Given the description of an element on the screen output the (x, y) to click on. 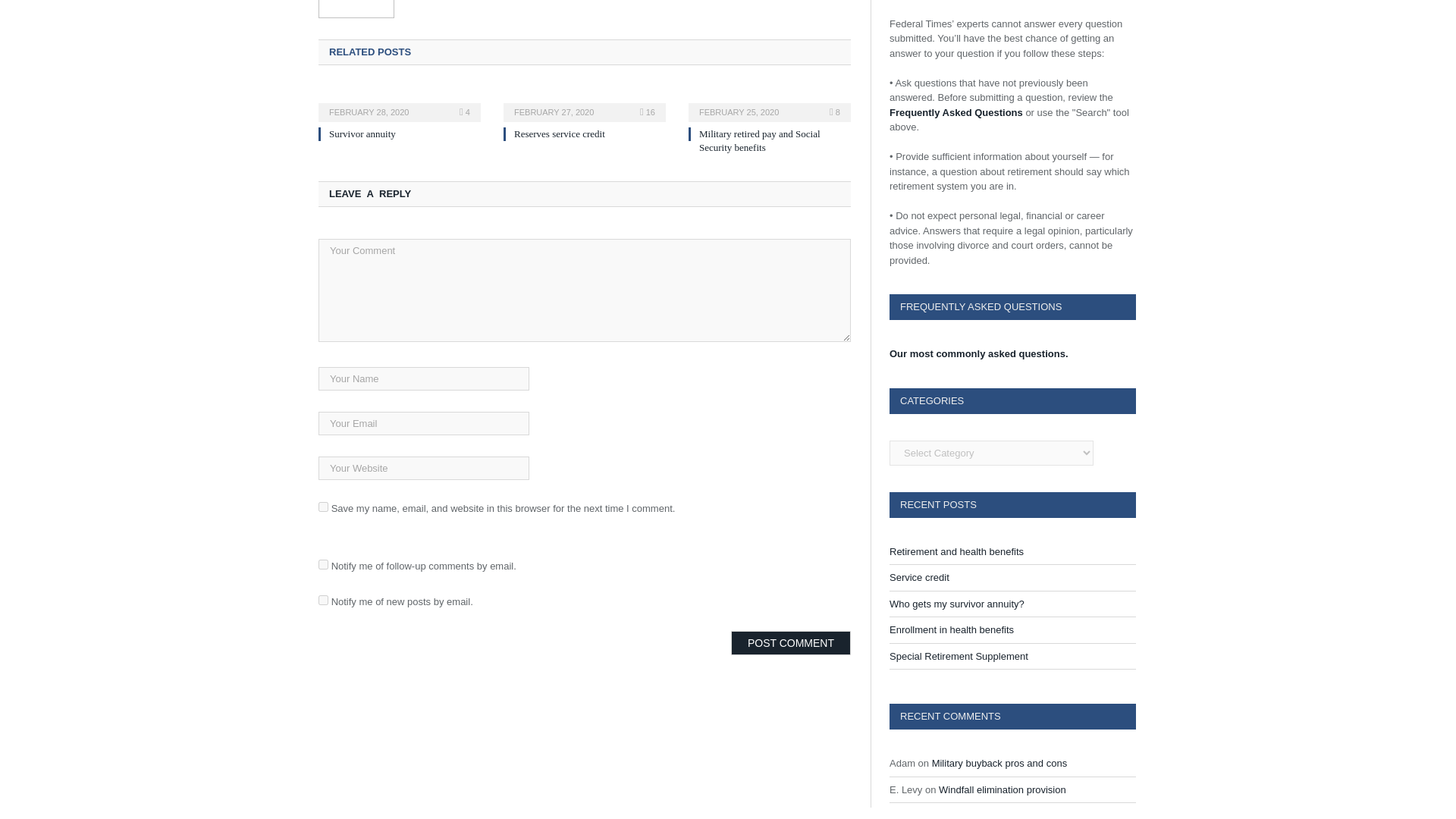
subscribe (323, 564)
Post Comment (790, 642)
subscribe (323, 600)
yes (323, 506)
